Given the description of an element on the screen output the (x, y) to click on. 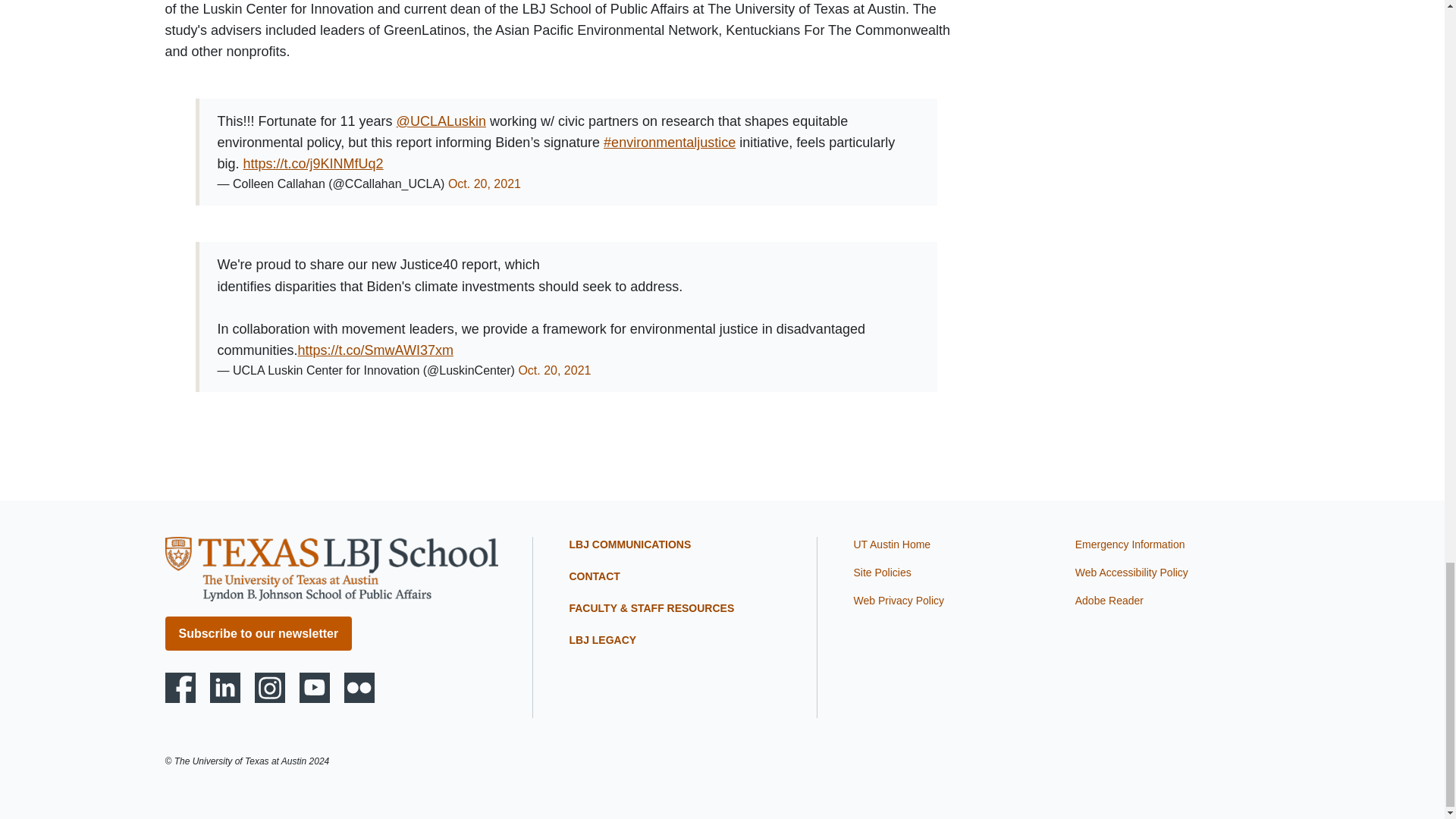
FacebookFind us on Facebook (180, 687)
YoutubeSee us on Youtube (314, 687)
flickrSee us on flickr (358, 687)
InstagramSee us on Instagram (269, 687)
Home (331, 567)
LinkedinFind us on Linkedin (224, 687)
